Given the description of an element on the screen output the (x, y) to click on. 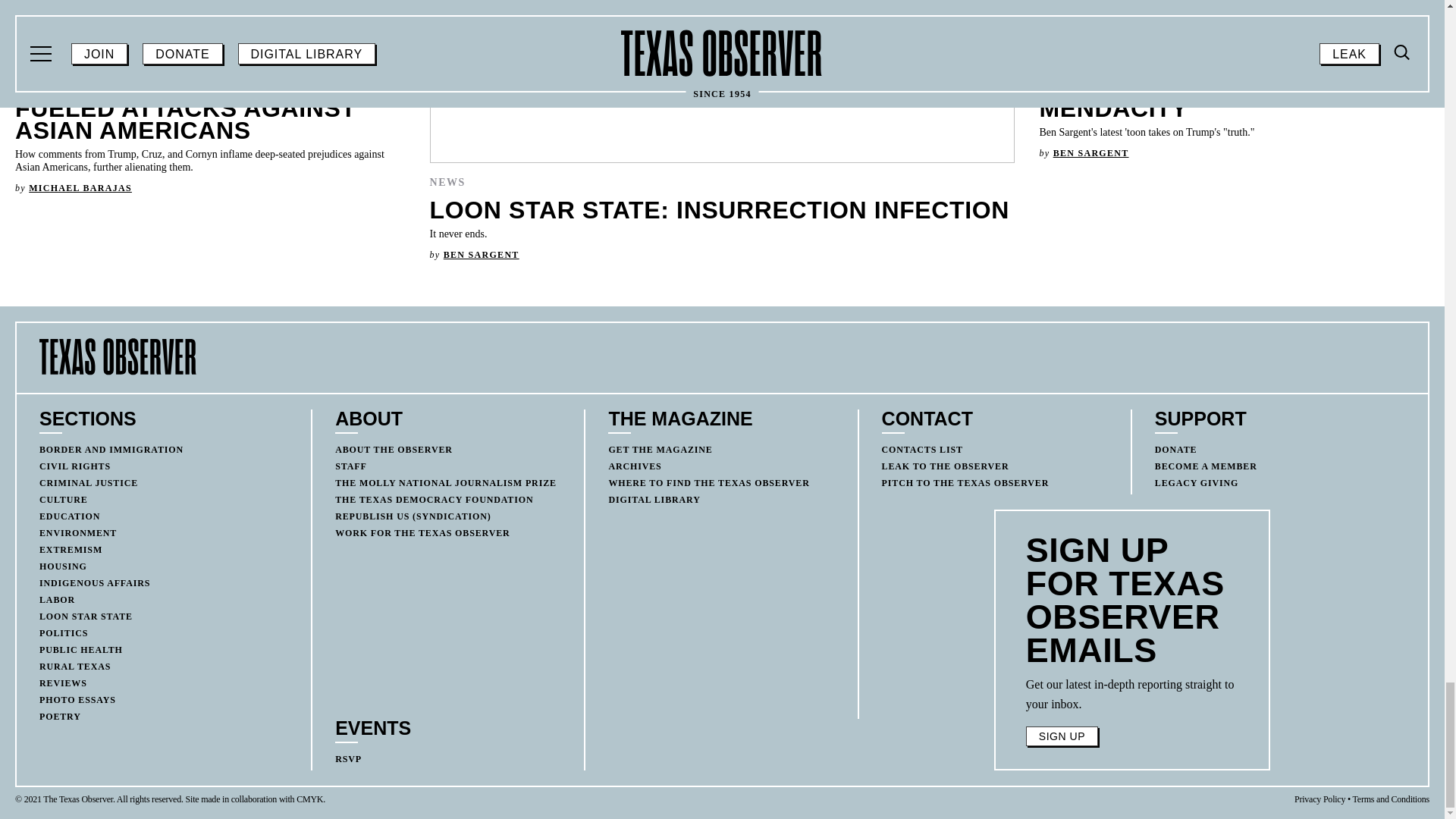
Post by Ben Sargent (1090, 153)
Post by Michael Barajas (80, 187)
Page 6 (1132, 694)
Post by Ben Sargent (481, 254)
